Given the description of an element on the screen output the (x, y) to click on. 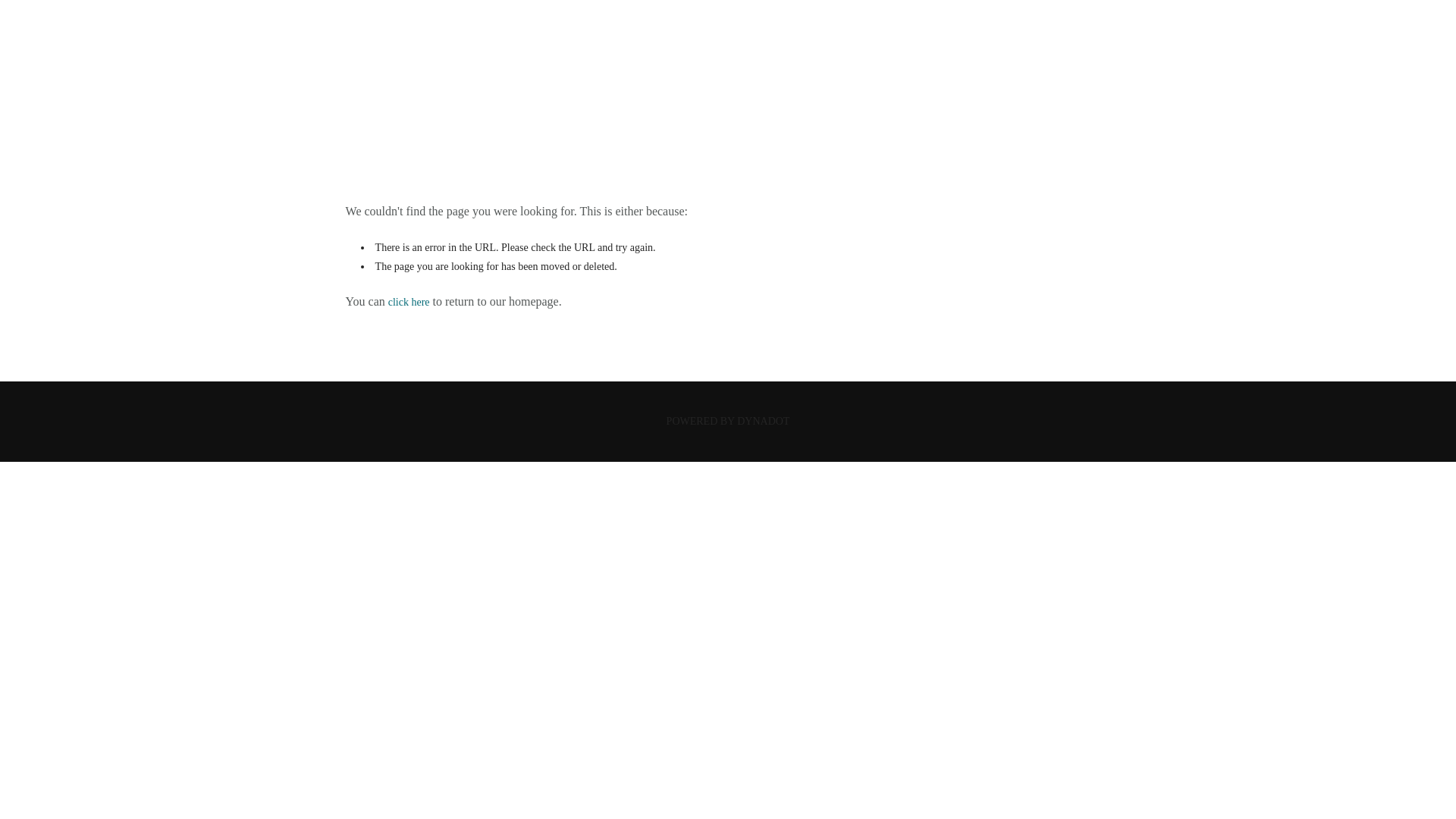
POWERED BY DYNADOT (728, 420)
click here (408, 301)
JOURNEY (727, 48)
HOME (727, 103)
